Given the description of an element on the screen output the (x, y) to click on. 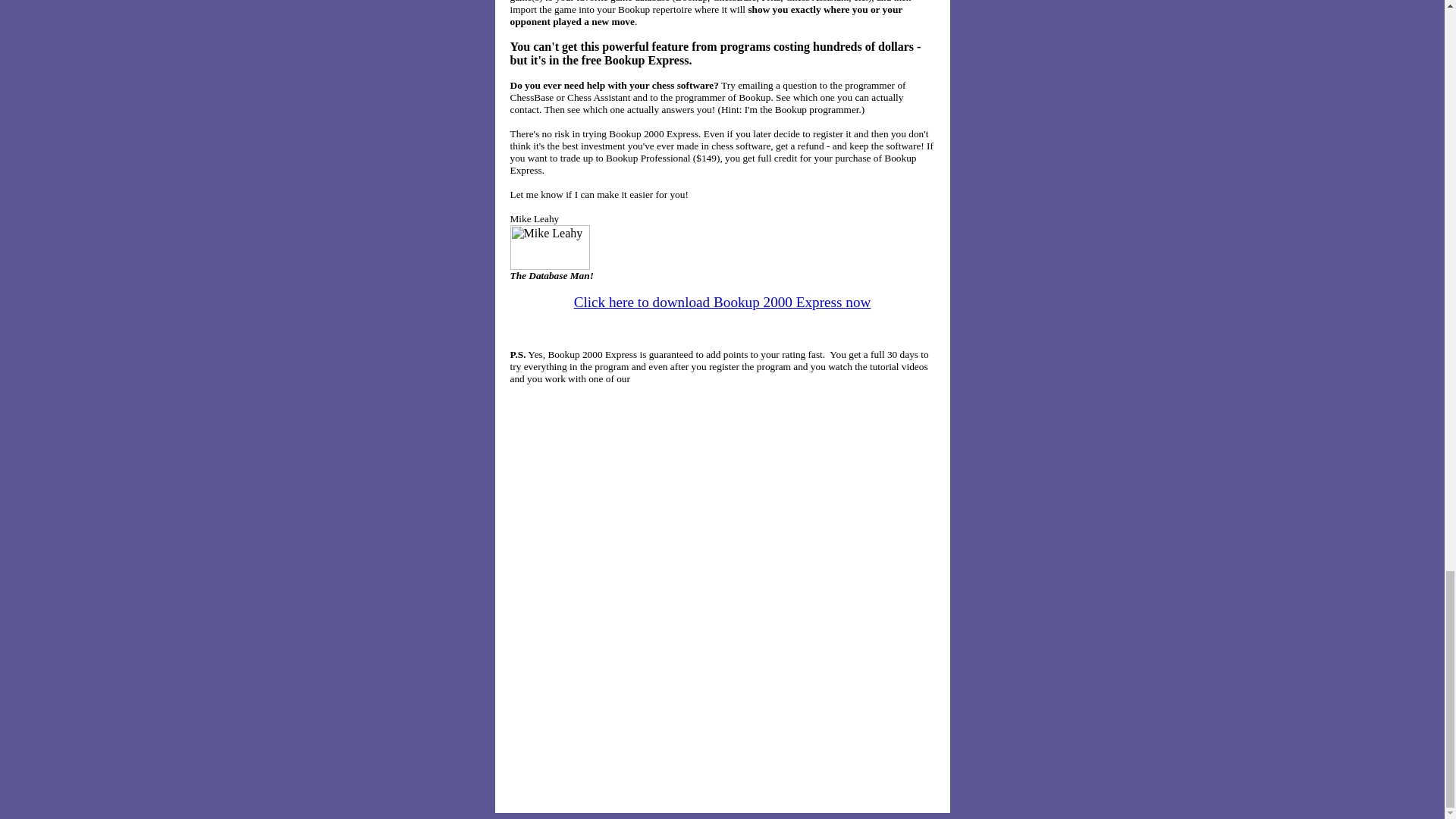
Click here to download Bookup 2000 Express now (721, 302)
